Given the description of an element on the screen output the (x, y) to click on. 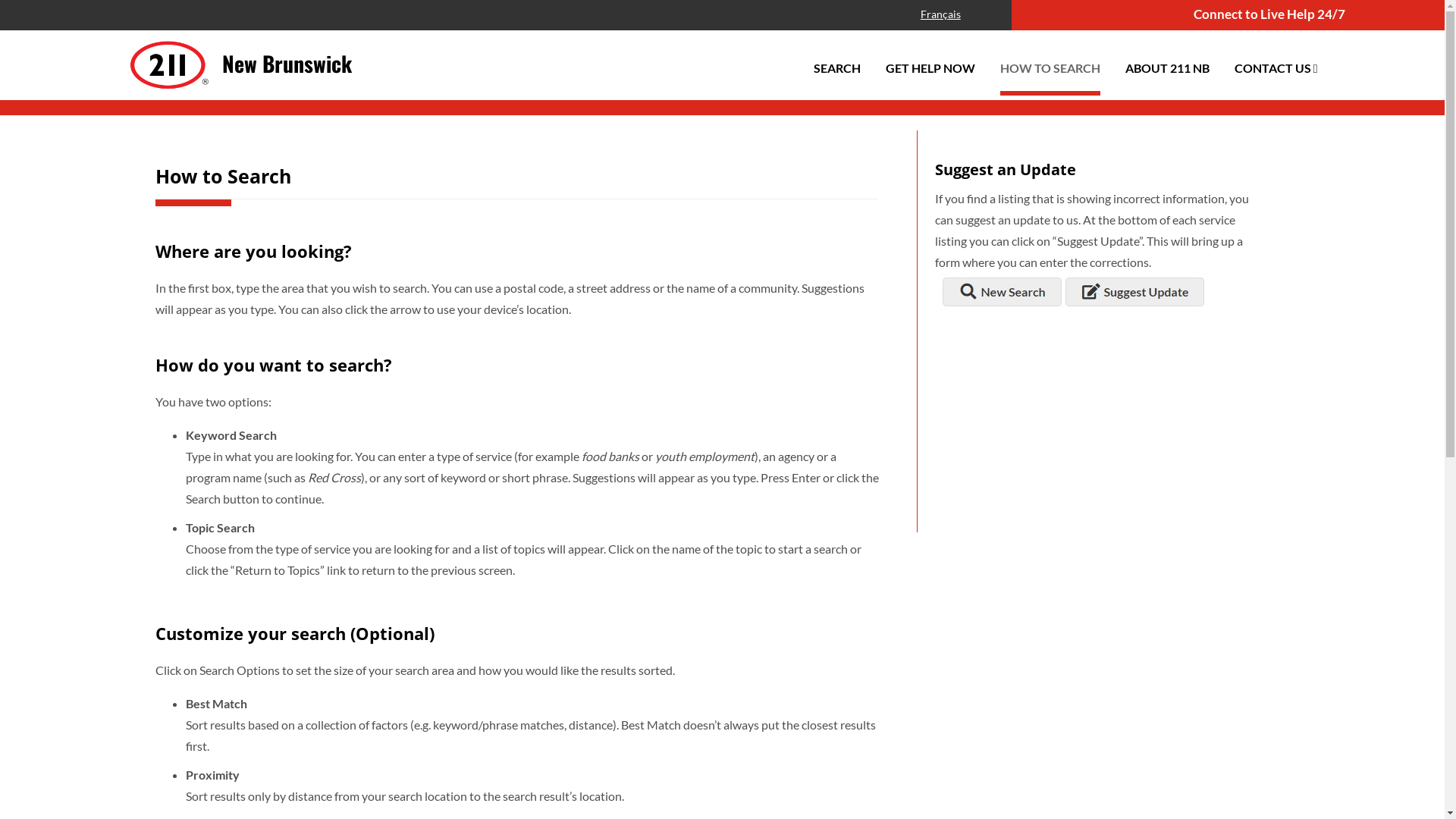
ABOUT 211 NB Element type: text (1167, 67)
GET HELP NOW Element type: text (930, 67)
HOW TO SEARCH Element type: text (1050, 67)
Chat with 211 Element type: hover (1383, 15)
Dial 211 Element type: hover (1357, 15)
SEARCH Element type: text (836, 67)
211 How to Search | New Brunswick Element type: hover (168, 93)
CONTACT US Element type: text (1272, 67)
Send an Email Element type: hover (1409, 15)
